Given the description of an element on the screen output the (x, y) to click on. 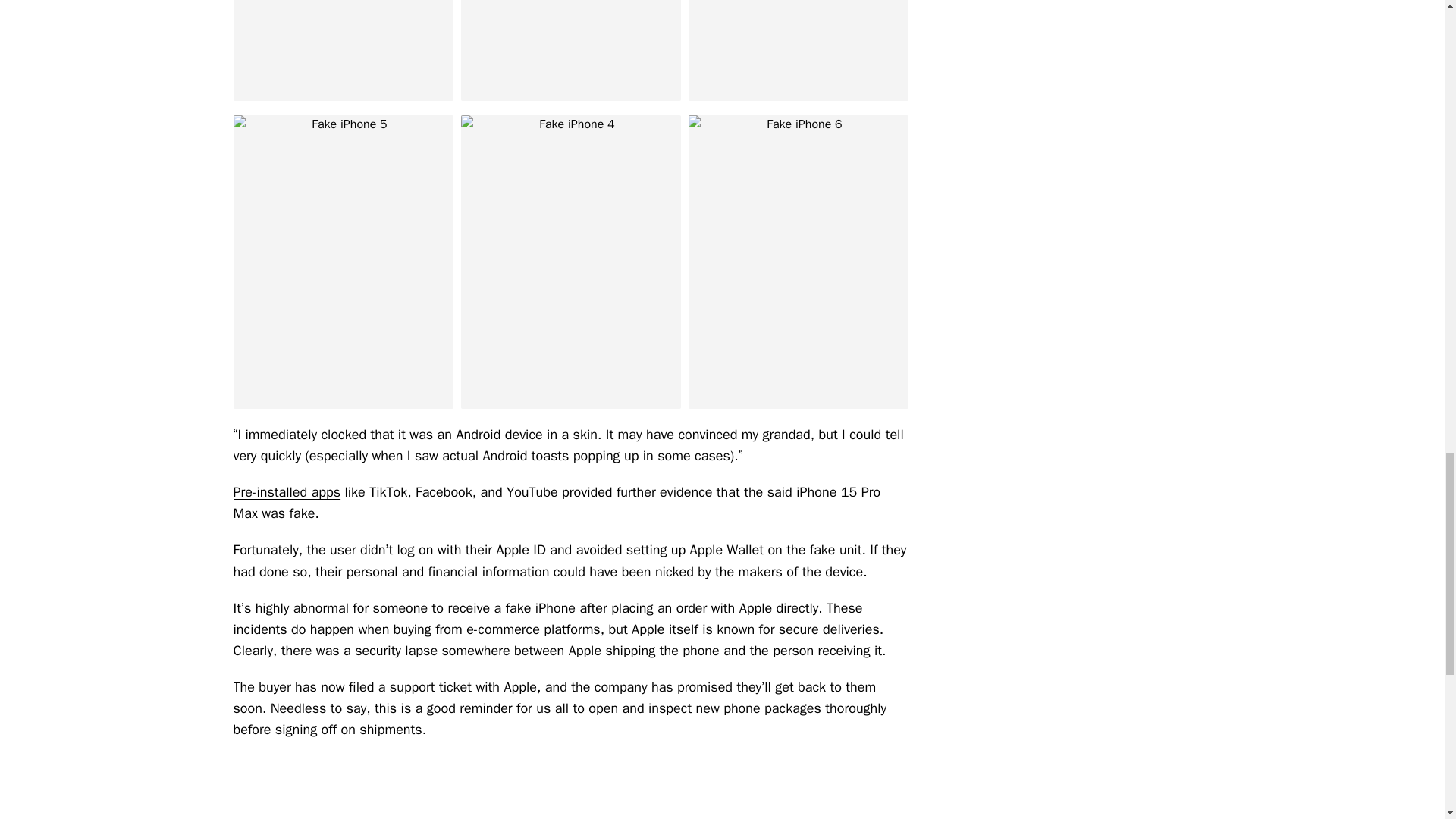
Fake iPhone 2 (571, 50)
Fake iPhone 3 (798, 50)
Pre-installed apps (286, 492)
Fake iPhone 1 (342, 50)
